Given the description of an element on the screen output the (x, y) to click on. 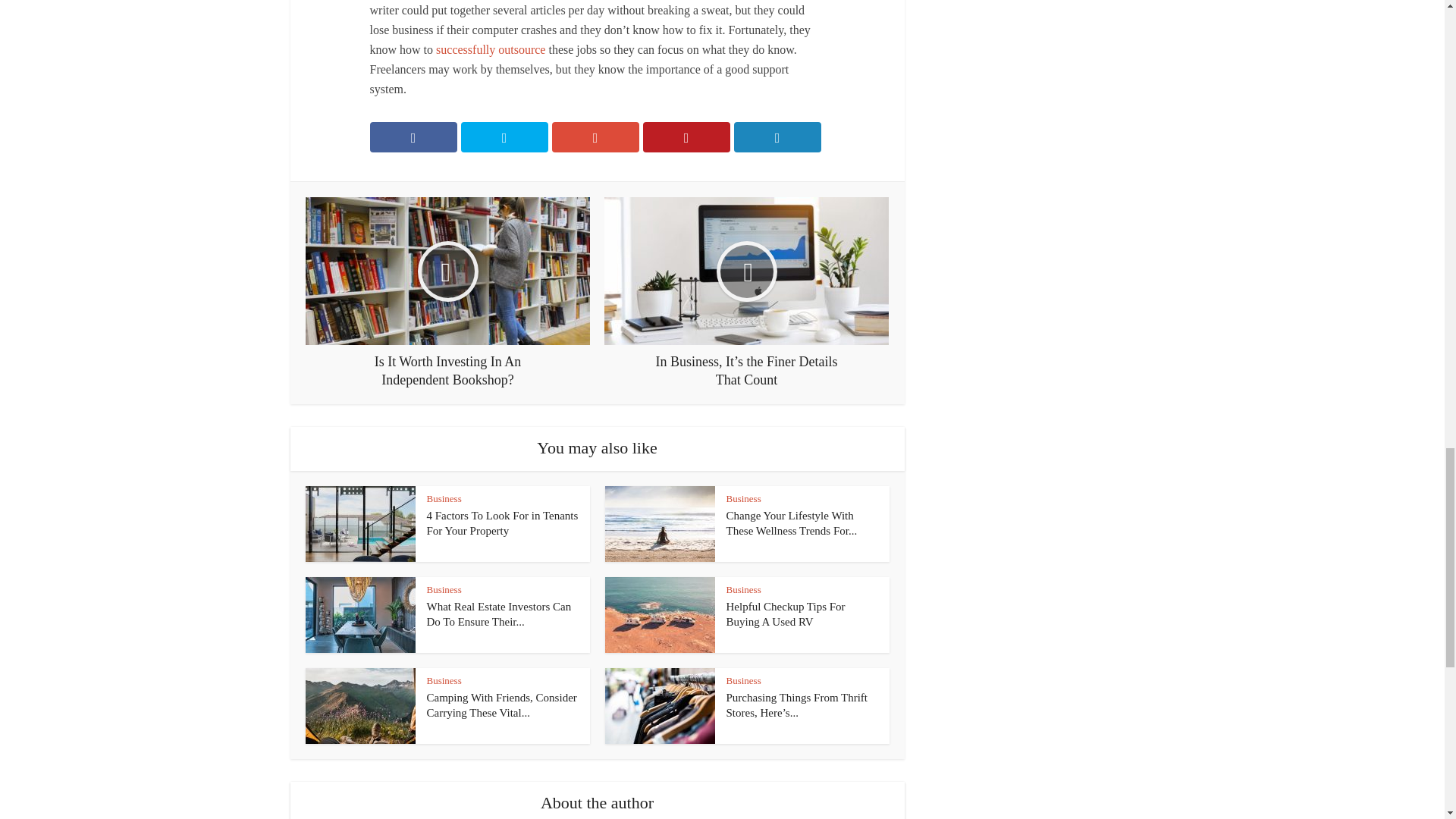
What Real Estate Investors Can Do To Ensure Their... (498, 614)
Is It Worth Investing In An Independent Bookshop? (447, 293)
Business (743, 680)
4 Factors To Look For in Tenants For Your Property (502, 523)
Camping With Friends, Consider Carrying These Vital... (501, 705)
4 Factors To Look For in Tenants For Your Property (502, 523)
Change Your Lifestyle With These Wellness Trends For... (791, 523)
Business (743, 589)
Business (443, 589)
